Given the description of an element on the screen output the (x, y) to click on. 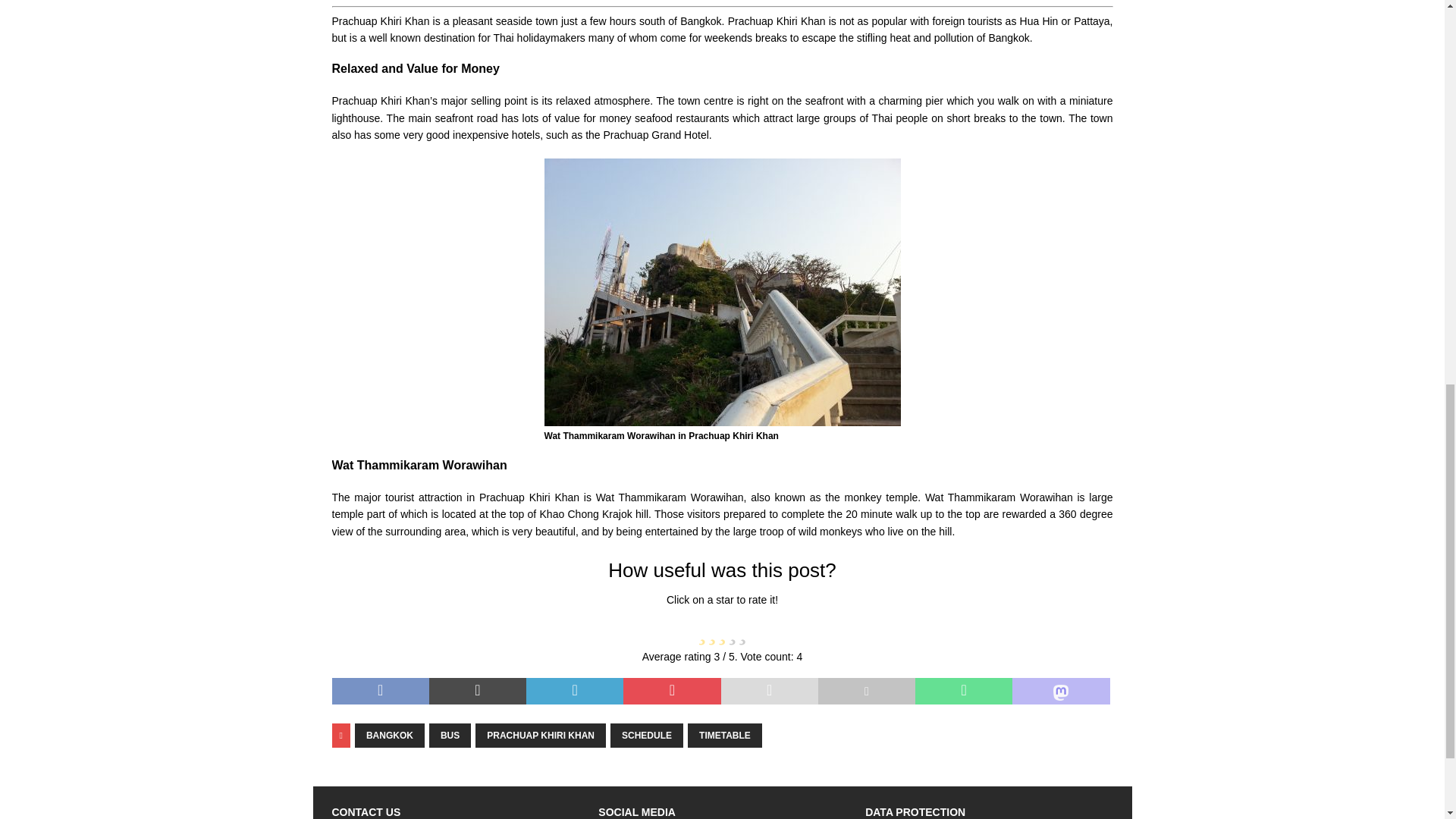
Send this article to a friend (769, 691)
Tweet This Post (477, 691)
Share on Facebook (380, 691)
Share on LinkedIn (574, 691)
Print this article (866, 691)
Share On Mastodon (1060, 691)
Share on Whatsapp (963, 691)
Pin This Post (671, 691)
